Given the description of an element on the screen output the (x, y) to click on. 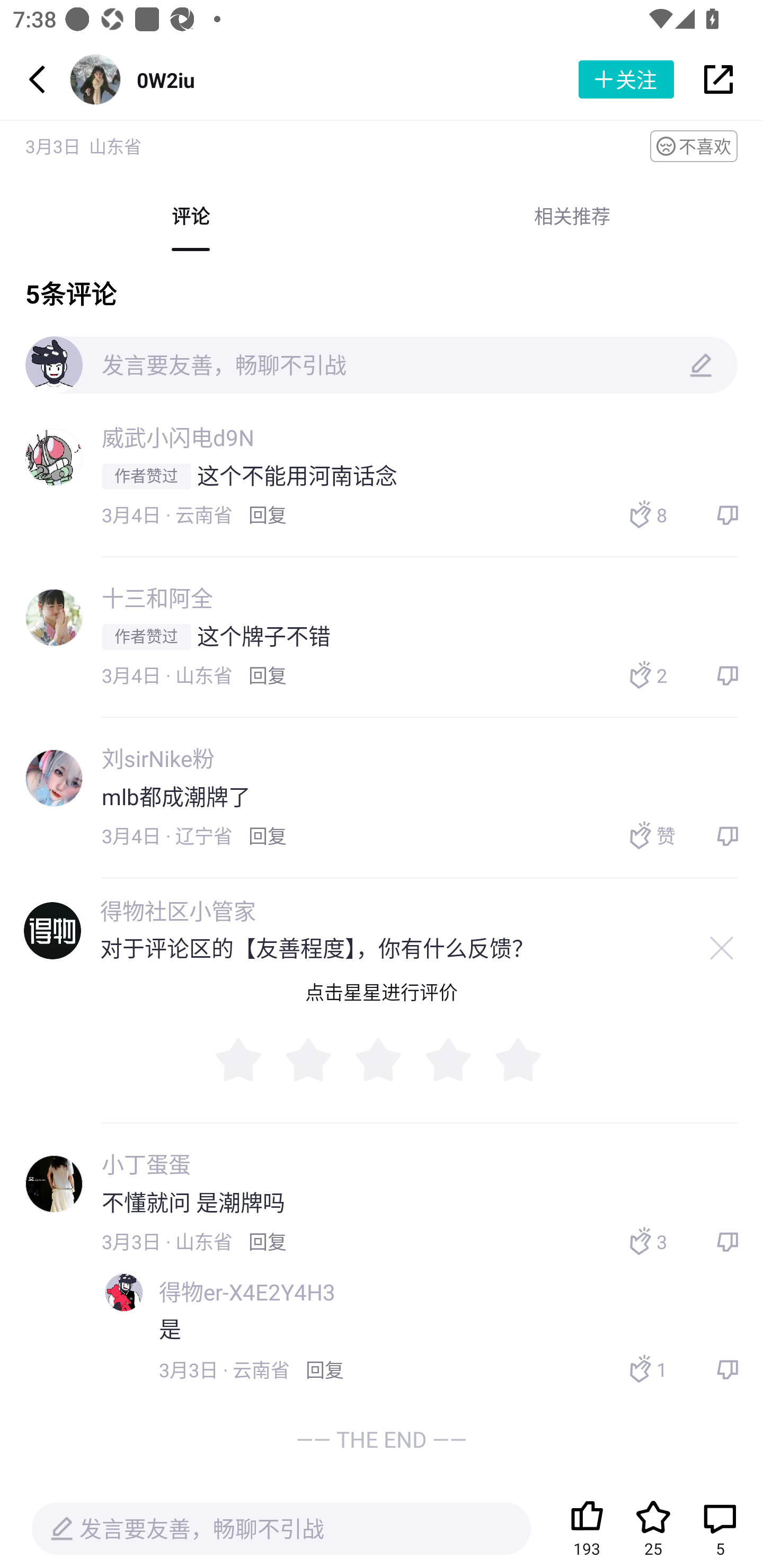
关注 (625, 79)
0W2iu (165, 79)
不喜欢 (693, 145)
相关推荐 (572, 215)
发言要友善，畅聊不引战 (381, 365)
威武小闪电d9N (177, 437)
十三和阿全 (156, 598)
刘sirNike粉 (157, 758)
得物社区小管家 (177, 911)
小丁蛋蛋 (145, 1164)
得物er-X4E2Y4H3 是 3月3日 · 云南省 回复 1 (430, 1332)
得物er-X4E2Y4H3 (246, 1292)
发言要友善，畅聊不引战 (281, 1528)
